Given the description of an element on the screen output the (x, y) to click on. 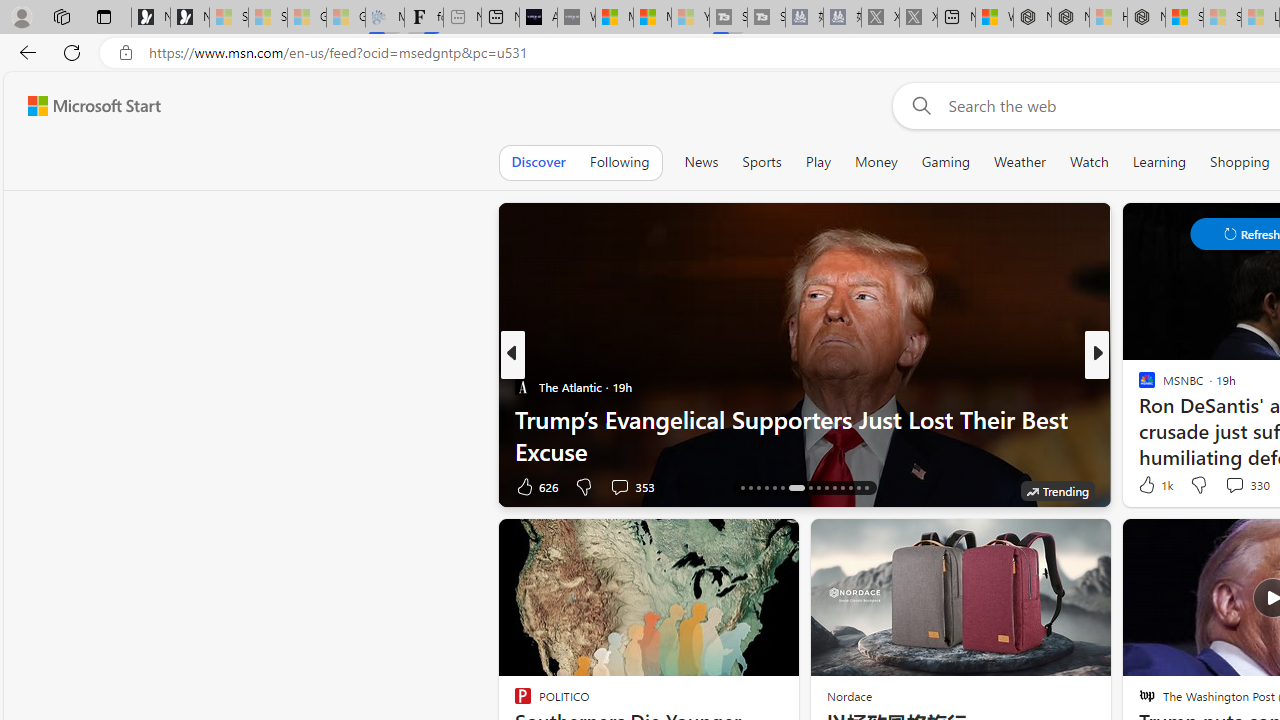
1k Like (1154, 484)
Watch (1089, 161)
AI Voice Changer for PC and Mac - Voice.ai (537, 17)
Sports (761, 161)
News (701, 162)
Following (619, 161)
Money (876, 162)
Streaming Coverage | T3 - Sleeping (728, 17)
Gaming (945, 162)
View comments 33 Comment (1229, 485)
AutomationID: tab-17 (750, 487)
91 Like (1149, 486)
The Atlantic (522, 386)
Weather (1020, 161)
